Given the description of an element on the screen output the (x, y) to click on. 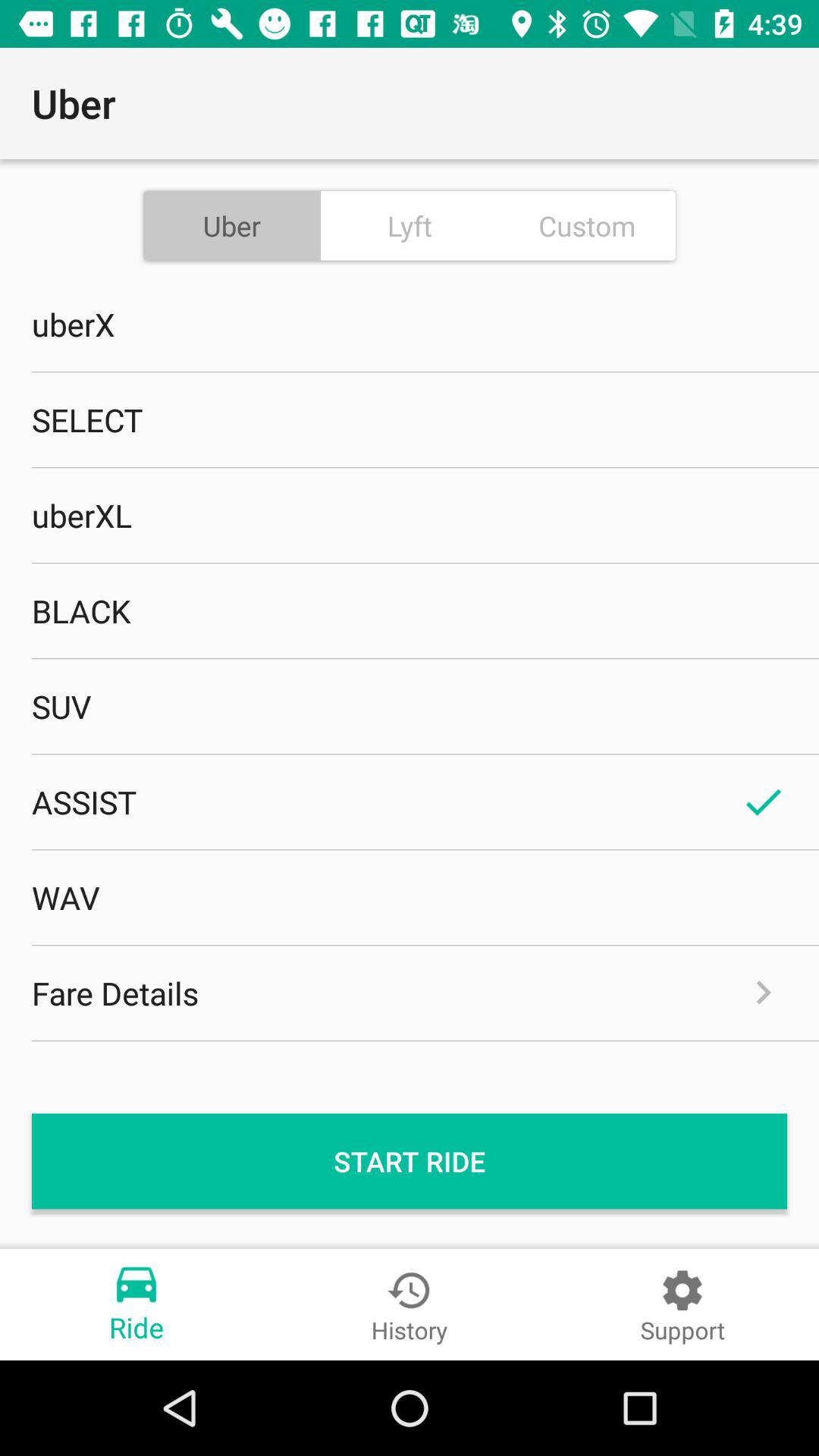
choose icon next to lyft (586, 225)
